Given the description of an element on the screen output the (x, y) to click on. 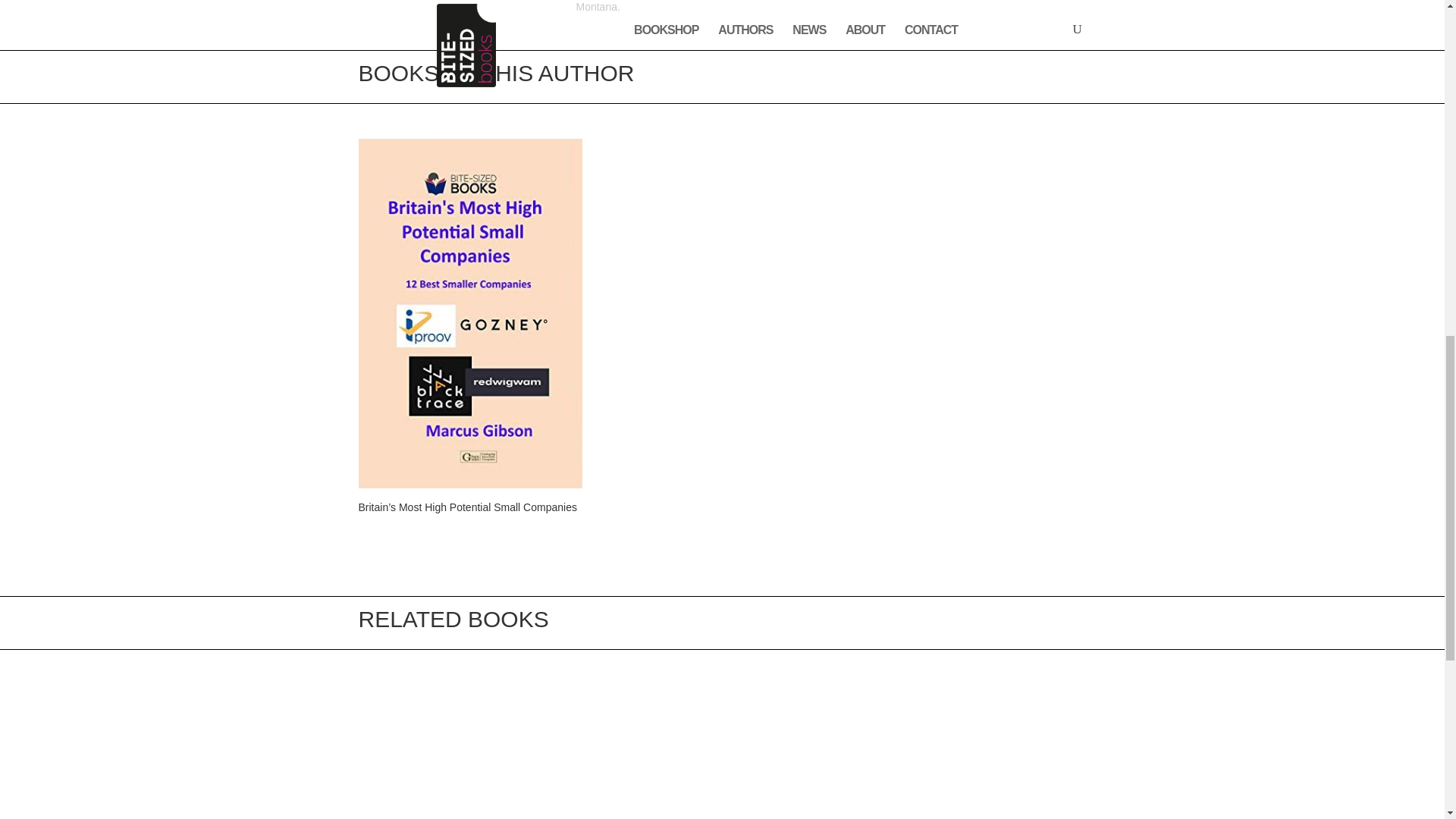
TOXIC NEWS? COVERING CLIMATE CHANGE (469, 751)
50 STATES OF MIND (721, 751)
